Given the description of an element on the screen output the (x, y) to click on. 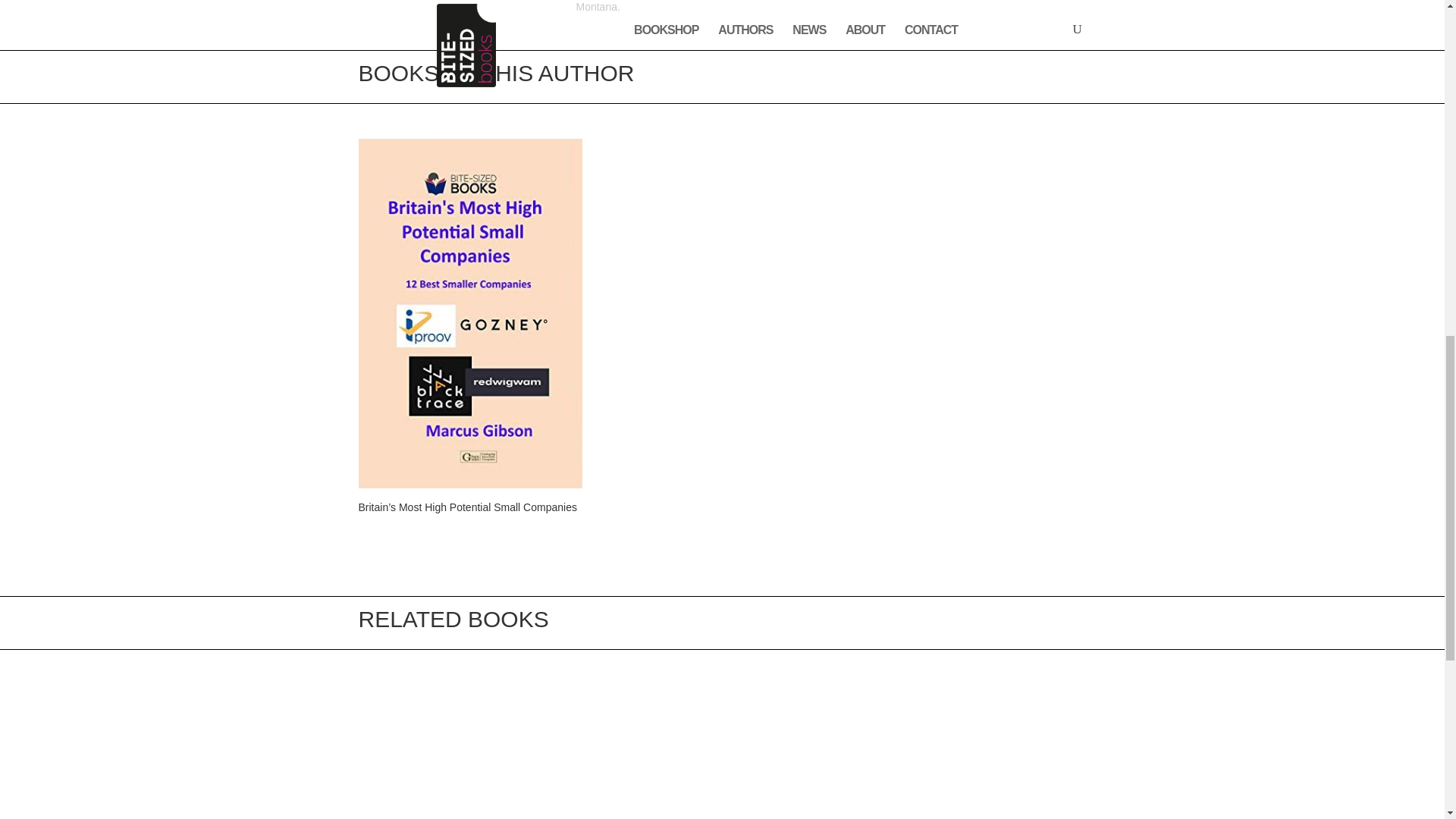
TOXIC NEWS? COVERING CLIMATE CHANGE (469, 751)
50 STATES OF MIND (721, 751)
